Given the description of an element on the screen output the (x, y) to click on. 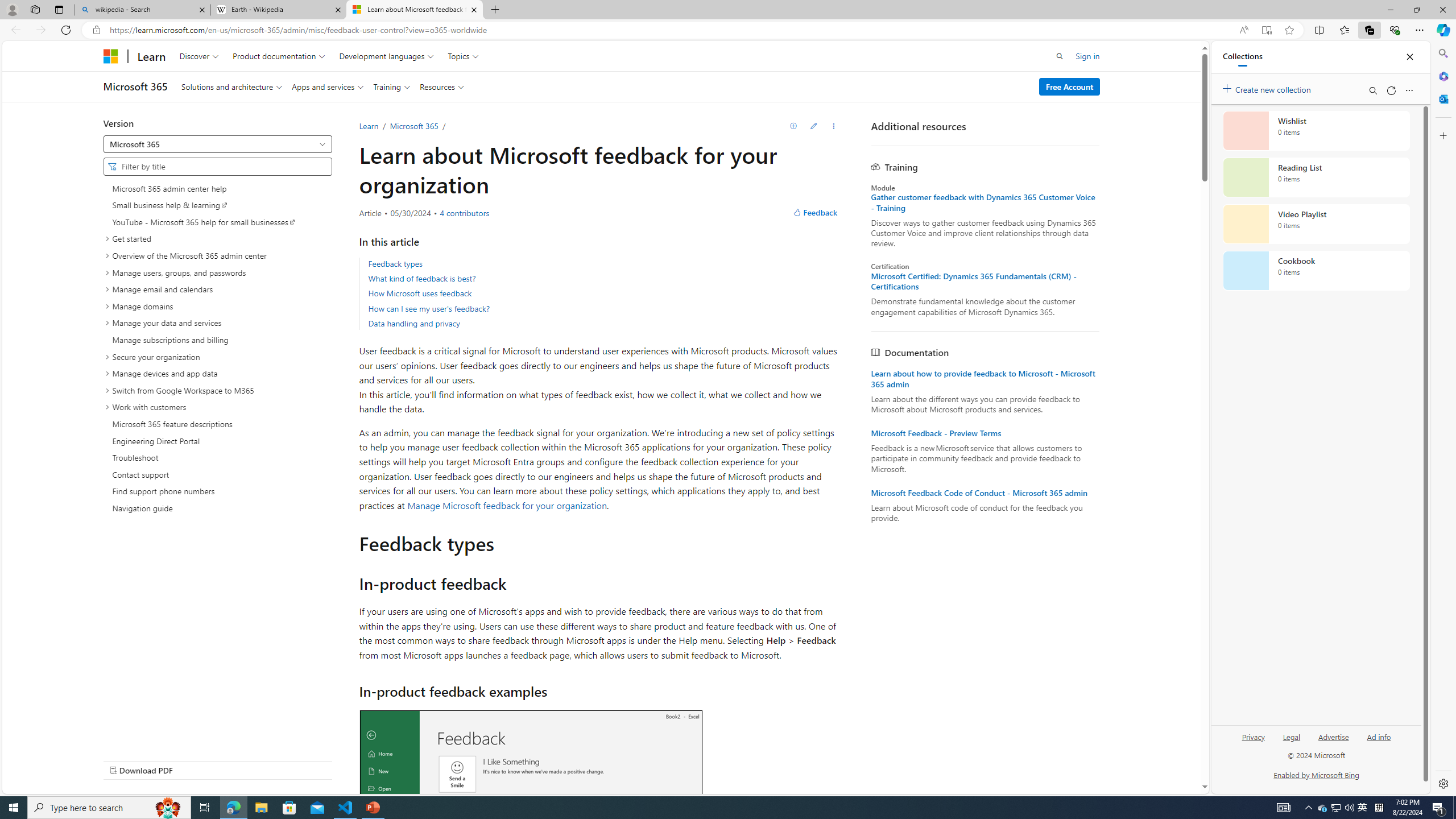
Advertise (1333, 741)
Tab actions menu (58, 9)
How Microsoft uses feedback (604, 293)
What kind of feedback is best? (604, 278)
Sign in (1087, 55)
More actions (834, 126)
Collections (1242, 56)
Copilot (Ctrl+Shift+.) (1442, 29)
Training (391, 86)
Feedback (815, 212)
Outlook (1442, 98)
Settings and more (Alt+F) (1419, 29)
How can I see my user's feedback? (604, 308)
